Given the description of an element on the screen output the (x, y) to click on. 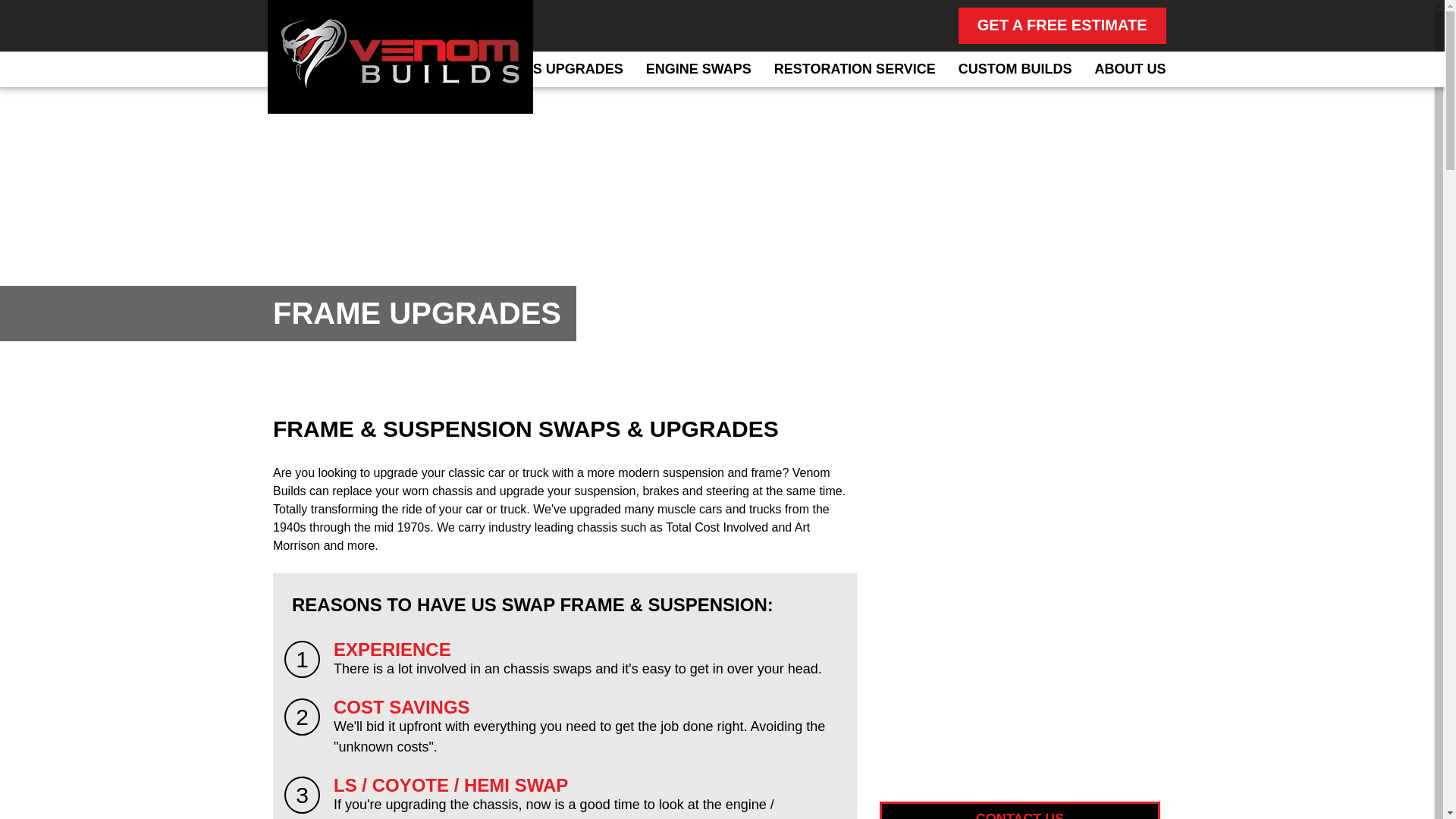
GET A FREE ESTIMATE (1062, 25)
RESTORATION SERVICE (855, 68)
ENGINE SWAPS (698, 68)
ABOUT US (1126, 68)
About Us (1126, 68)
Restoration Service (855, 68)
Venom Builds (399, 56)
Custom Builds (1015, 68)
CHASSIS UPGRADES (552, 68)
CUSTOM BUILDS (1015, 68)
